Given the description of an element on the screen output the (x, y) to click on. 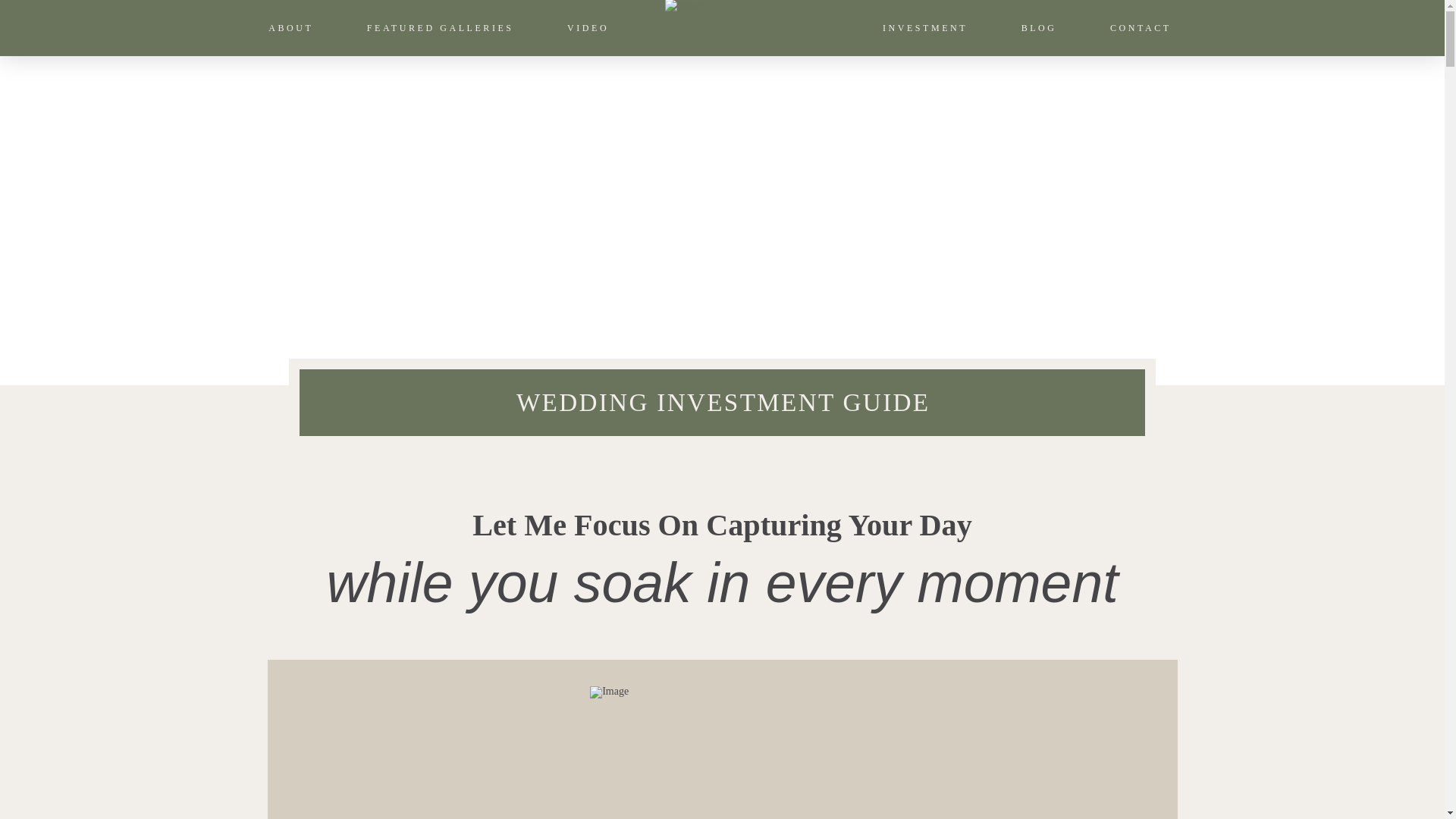
BLOG (1036, 28)
ABOUT (289, 28)
FEATURED GALLERIES (438, 28)
VIDEO (586, 28)
INVESTMENT (923, 28)
CONTACT (1138, 28)
